Given the description of an element on the screen output the (x, y) to click on. 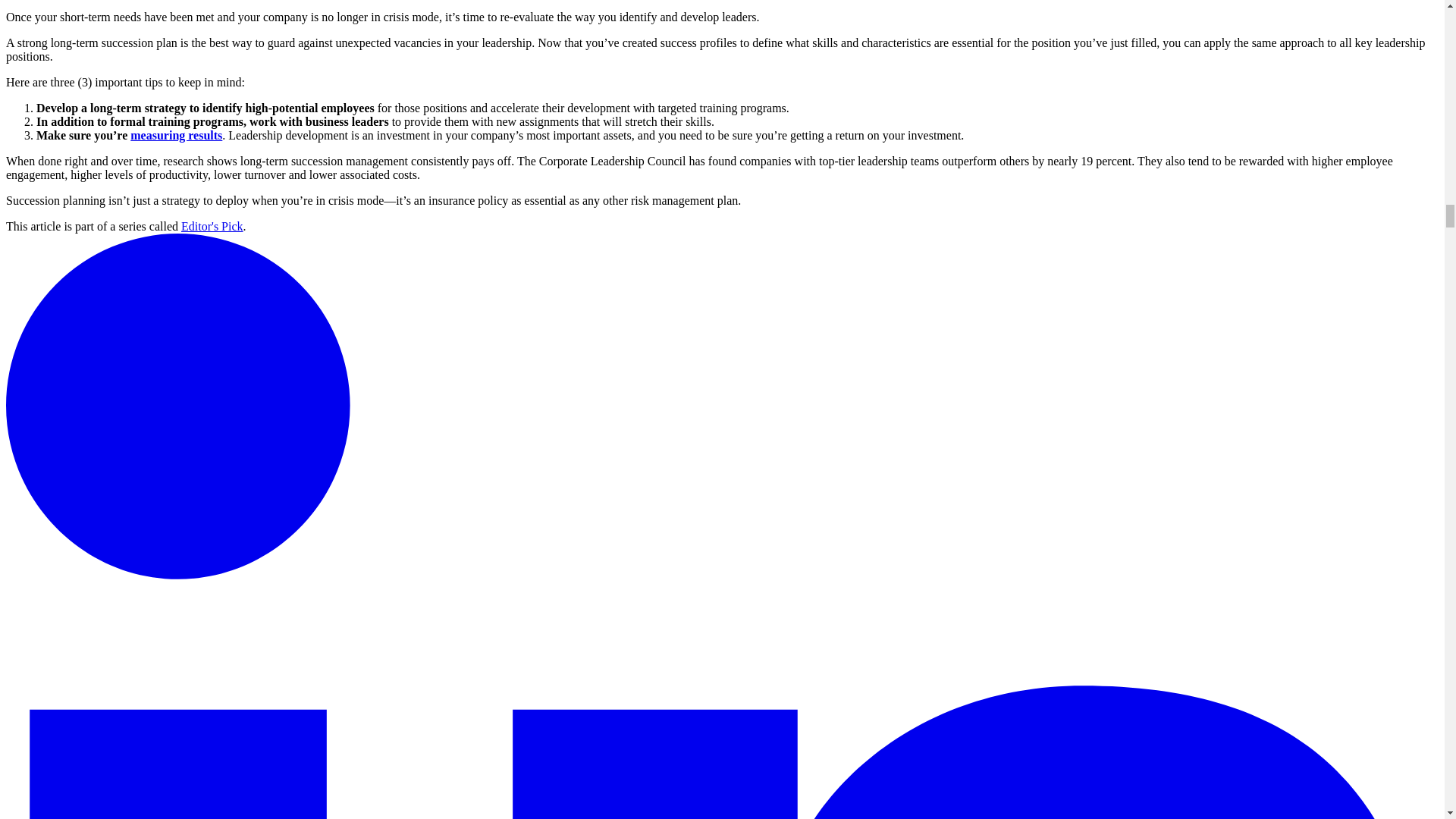
Editor's Pick (211, 226)
measuring results (176, 134)
